Given the description of an element on the screen output the (x, y) to click on. 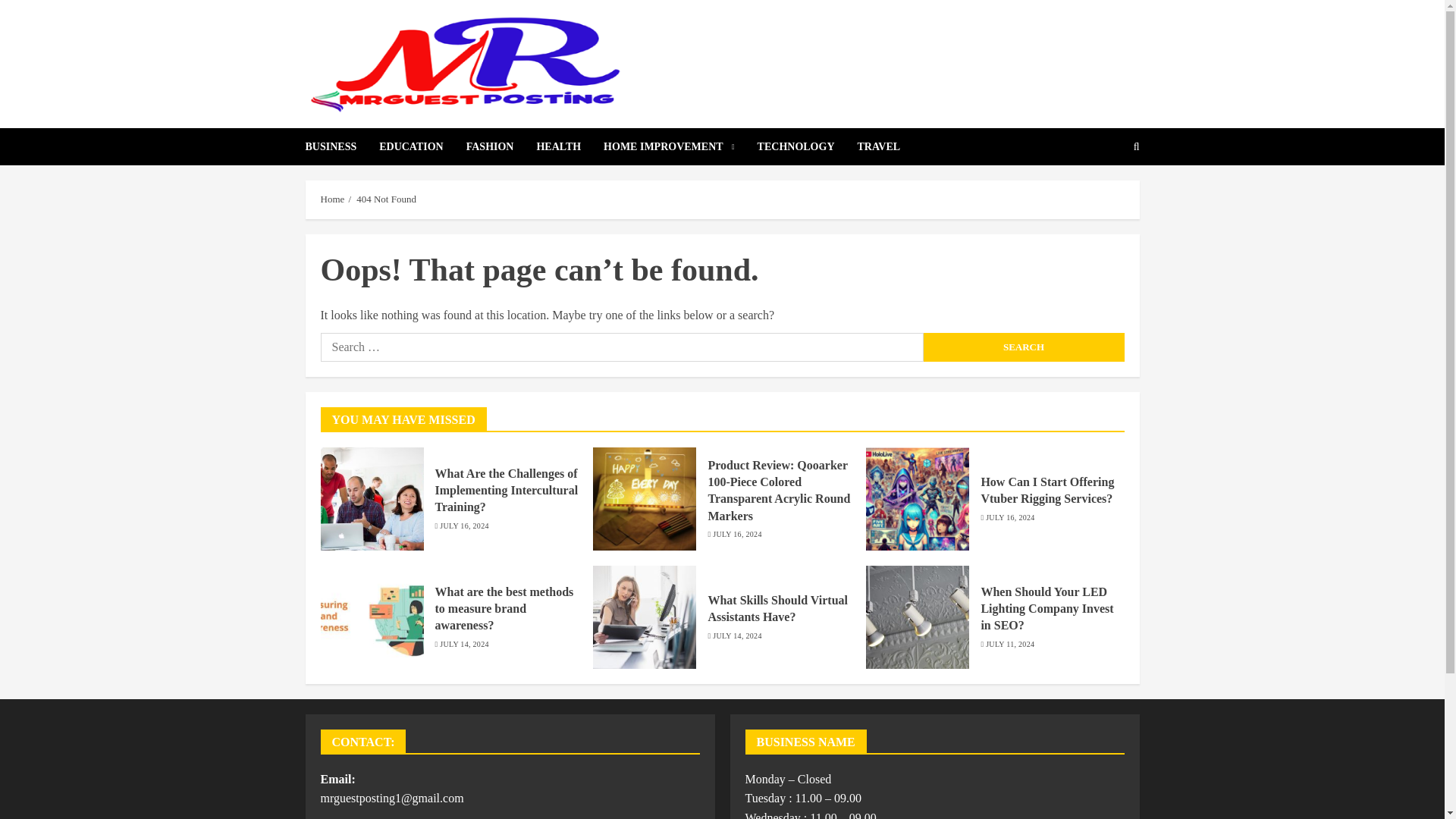
HEALTH (569, 146)
TRAVEL (879, 146)
EDUCATION (421, 146)
JULY 16, 2024 (463, 525)
JULY 11, 2024 (1009, 644)
How Can I Start Offering Vtuber Rigging Services? (1046, 490)
Search (1023, 346)
404 Not Found (386, 199)
JULY 16, 2024 (1009, 517)
What are the best methods to measure brand awareness? (504, 609)
FASHION (501, 146)
Home (331, 199)
JULY 16, 2024 (737, 534)
